Given the description of an element on the screen output the (x, y) to click on. 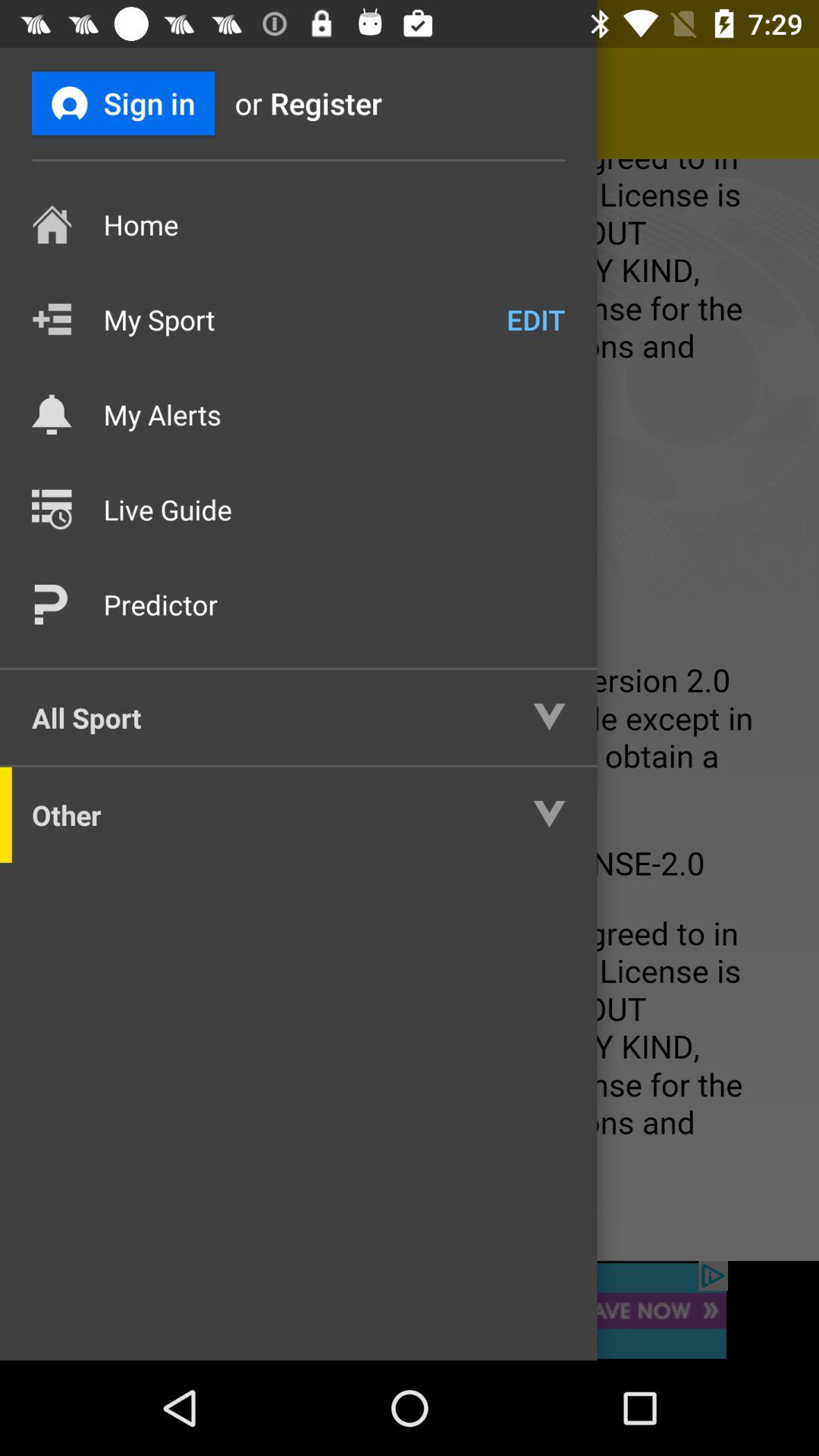
select banner advertisement (409, 1310)
